Given the description of an element on the screen output the (x, y) to click on. 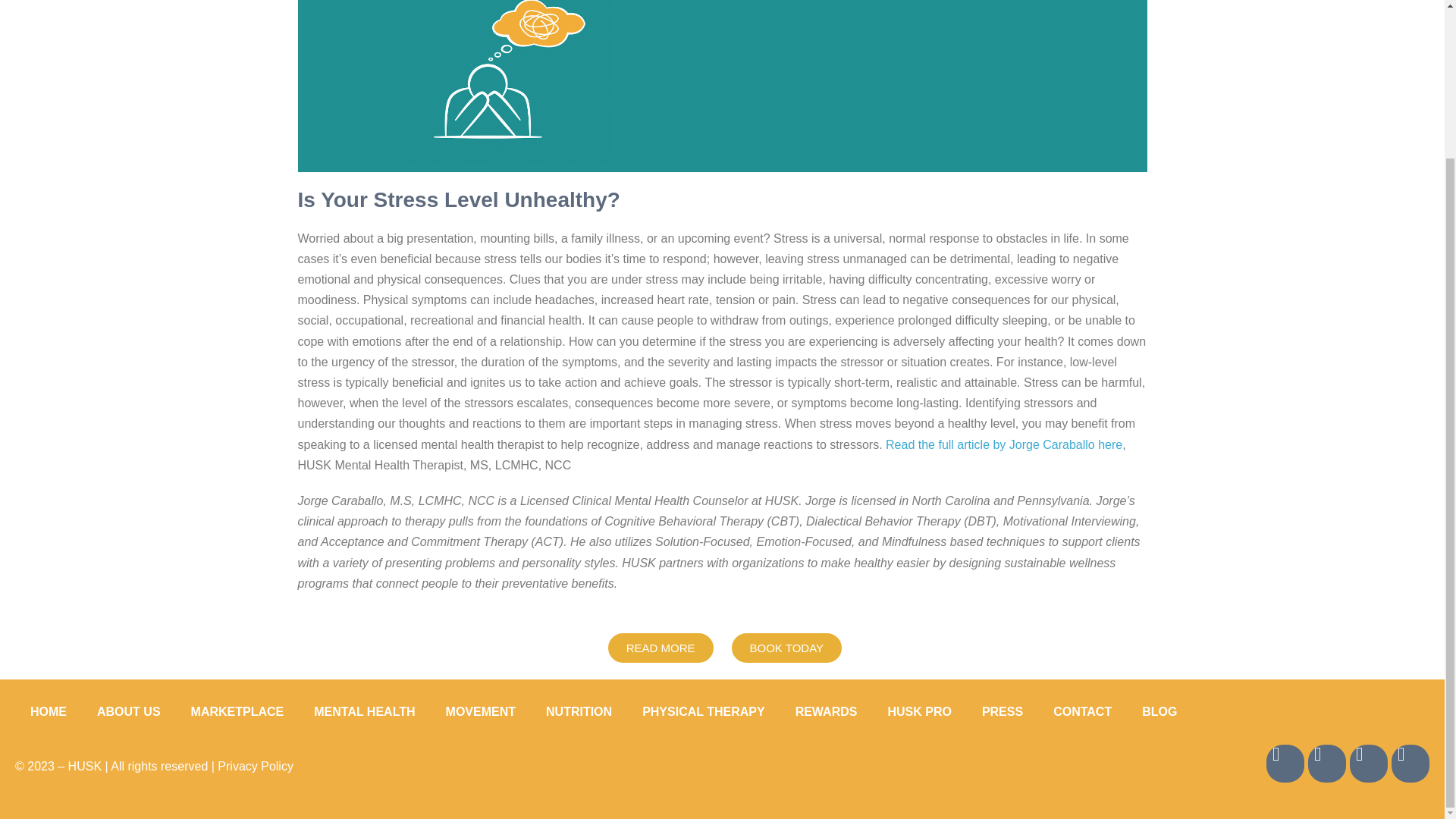
MOVEMENT (480, 711)
ABOUT US (128, 711)
Read the full article by Jorge Caraballo here (1003, 444)
MARKETPLACE (237, 711)
PHYSICAL THERAPY (703, 711)
READ MORE (660, 647)
BOOK TODAY (786, 647)
MENTAL HEALTH (363, 711)
NUTRITION (579, 711)
HOME (47, 711)
